Given the description of an element on the screen output the (x, y) to click on. 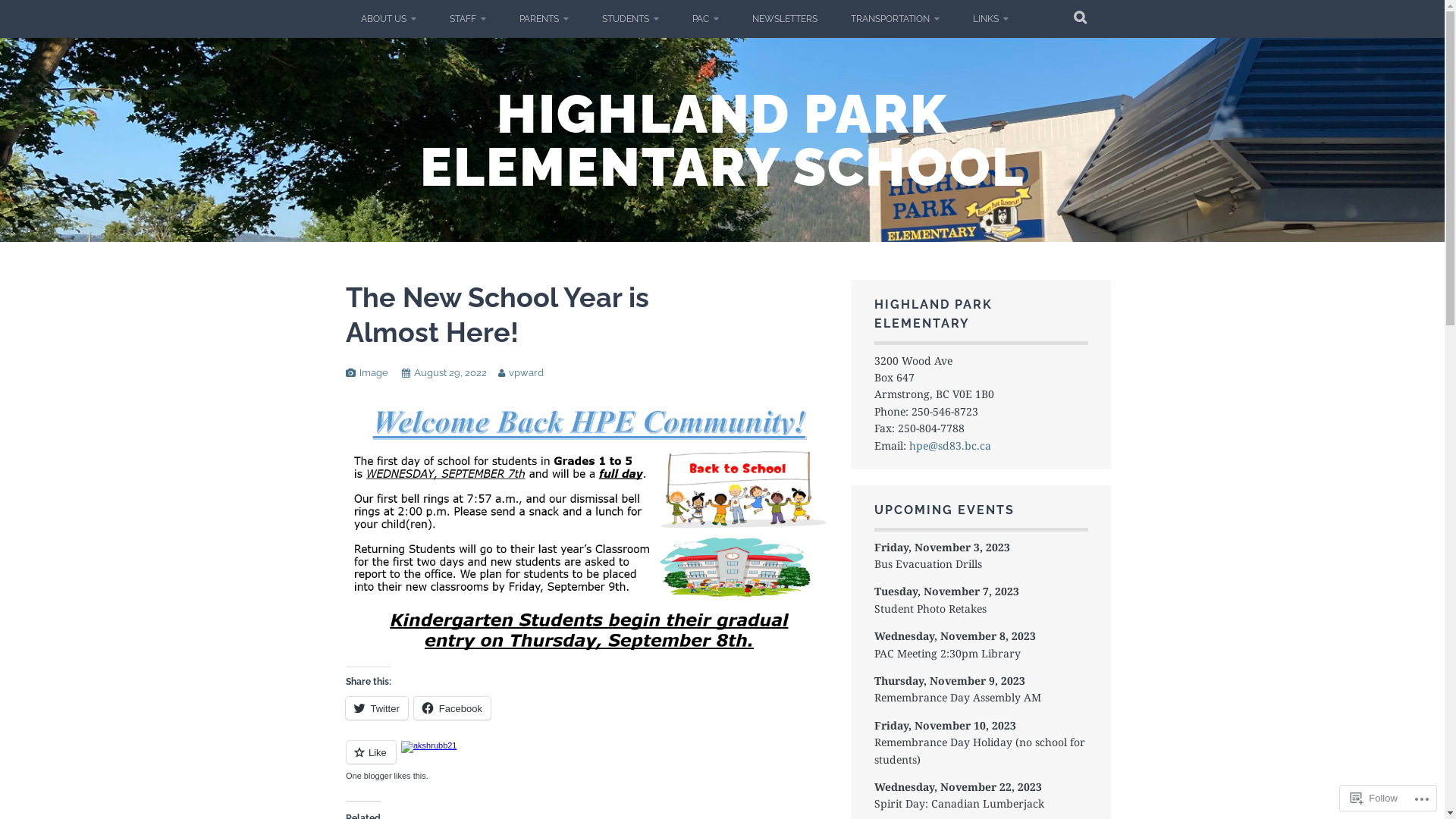
LINKS Element type: text (989, 18)
Image Element type: text (373, 372)
HIGHLAND PARK ELEMENTARY SCHOOL Element type: text (722, 139)
hpe@sd83.bc.ca Element type: text (950, 445)
Facebook Element type: text (452, 707)
PARENTS Element type: text (543, 18)
NEWSLETTERS Element type: text (784, 18)
ABOUT US Element type: text (388, 18)
vpward Element type: text (525, 372)
Follow Element type: text (1373, 797)
August 29, 2022 Element type: text (450, 372)
The New School Year is Almost Here! Element type: text (497, 314)
STAFF Element type: text (466, 18)
PAC Element type: text (704, 18)
STUDENTS Element type: text (630, 18)
TRANSPORTATION Element type: text (894, 18)
Twitter Element type: text (376, 707)
Like or Reblog Element type: hover (586, 760)
